Given the description of an element on the screen output the (x, y) to click on. 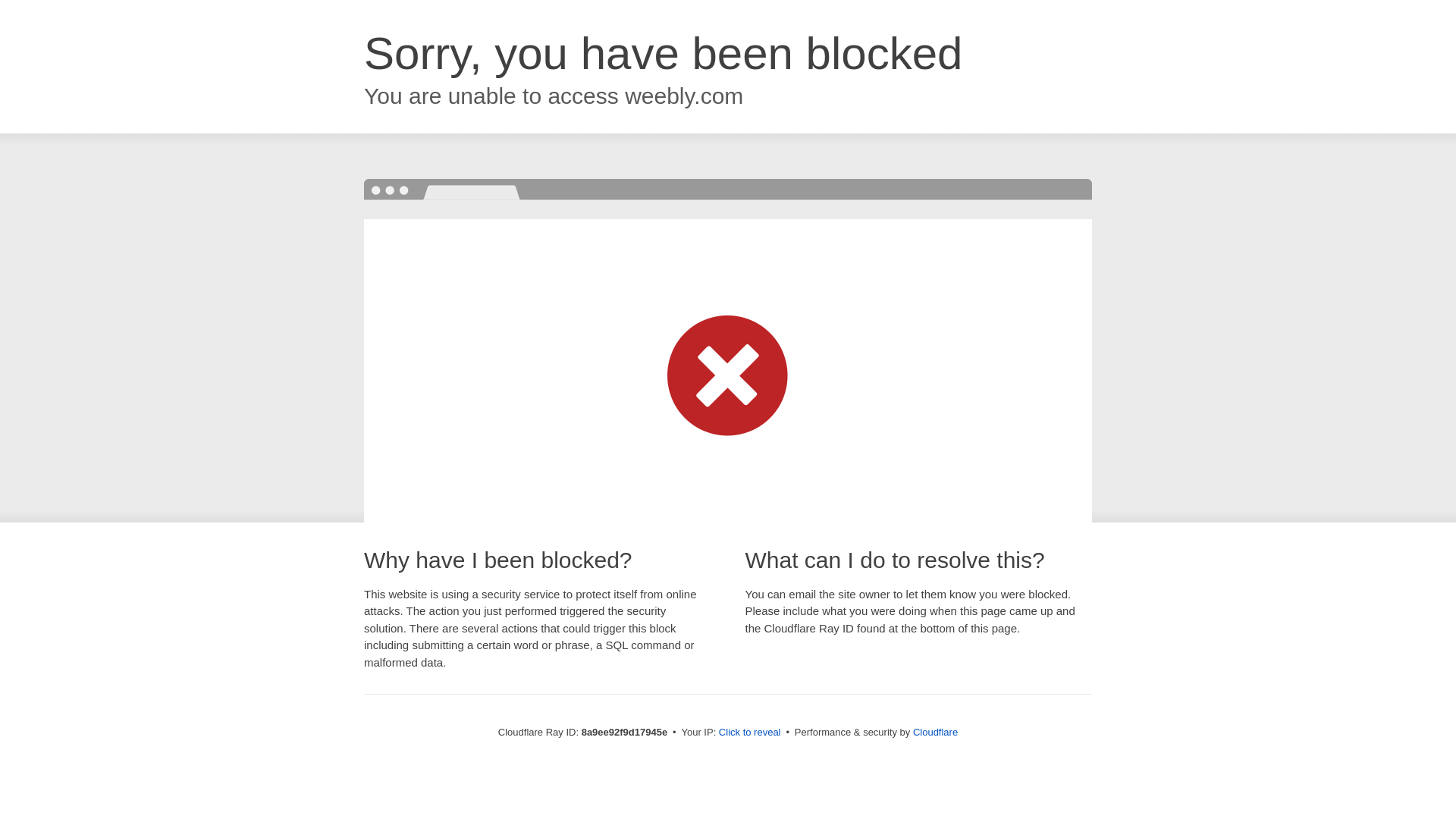
Click to reveal (749, 732)
Cloudflare (935, 731)
